Given the description of an element on the screen output the (x, y) to click on. 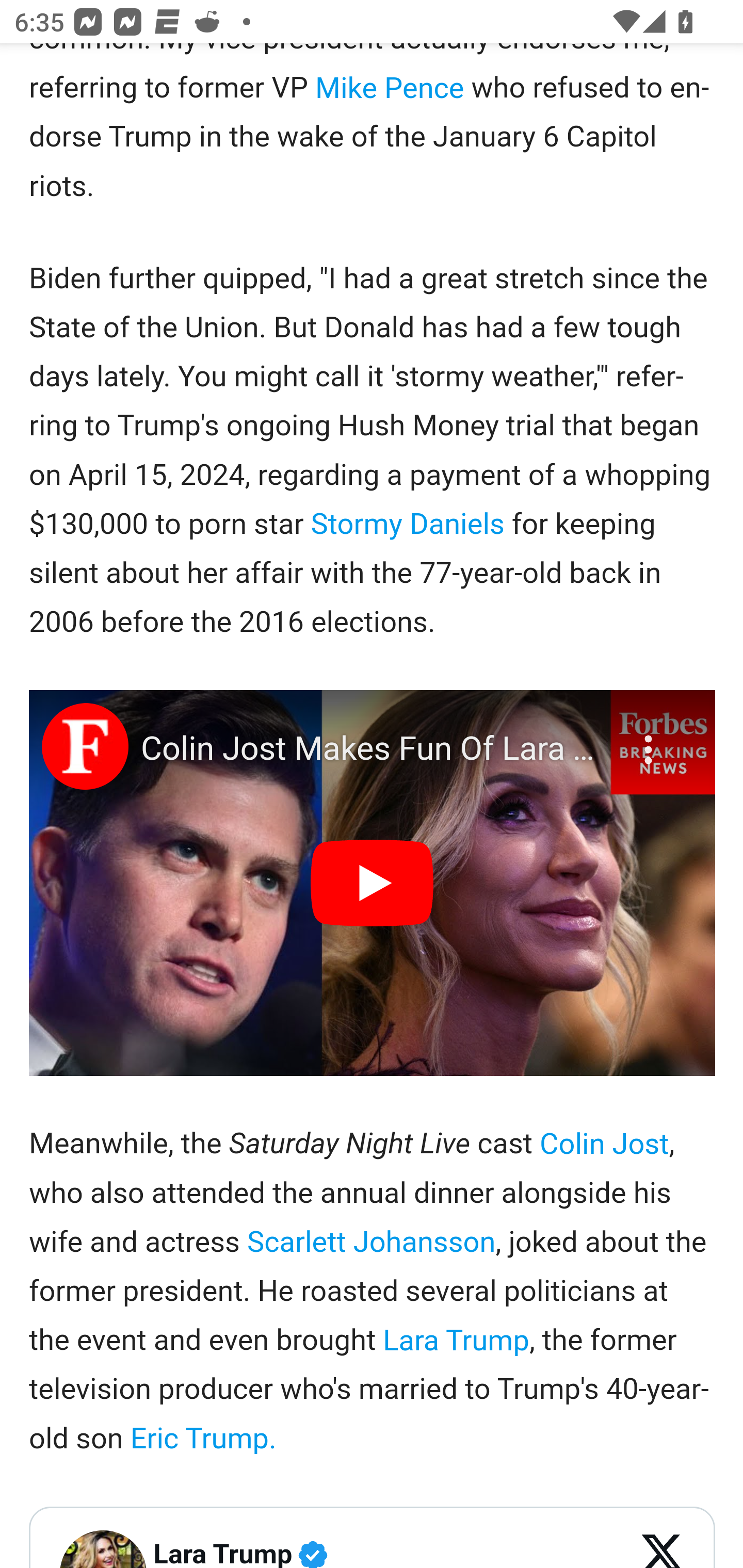
Mike Pence (389, 87)
Stormy Daniels (407, 524)
More (650, 737)
Photo image of Forbes Breaking News (84, 746)
Play (372, 883)
Colin Jost (603, 1144)
Scarlett Johansson (370, 1241)
Lara Trump (456, 1339)
Eric Trump. (203, 1438)
View on X (662, 1548)
